Given the description of an element on the screen output the (x, y) to click on. 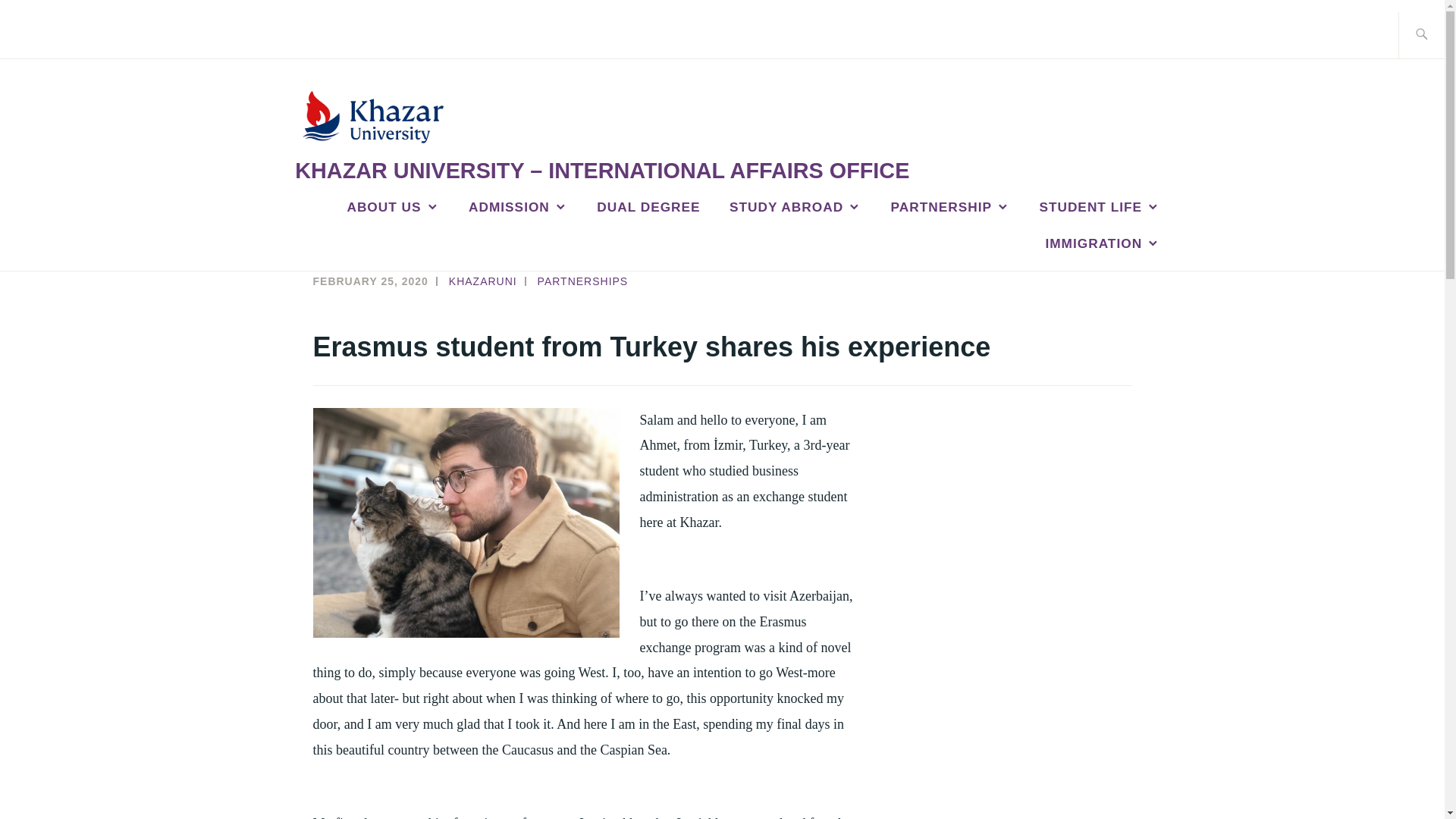
DUAL DEGREE (648, 206)
ABOUT US (392, 206)
Search (47, 22)
PARTNERSHIP (950, 206)
STUDY ABROAD (795, 206)
ADMISSION (517, 206)
